Given the description of an element on the screen output the (x, y) to click on. 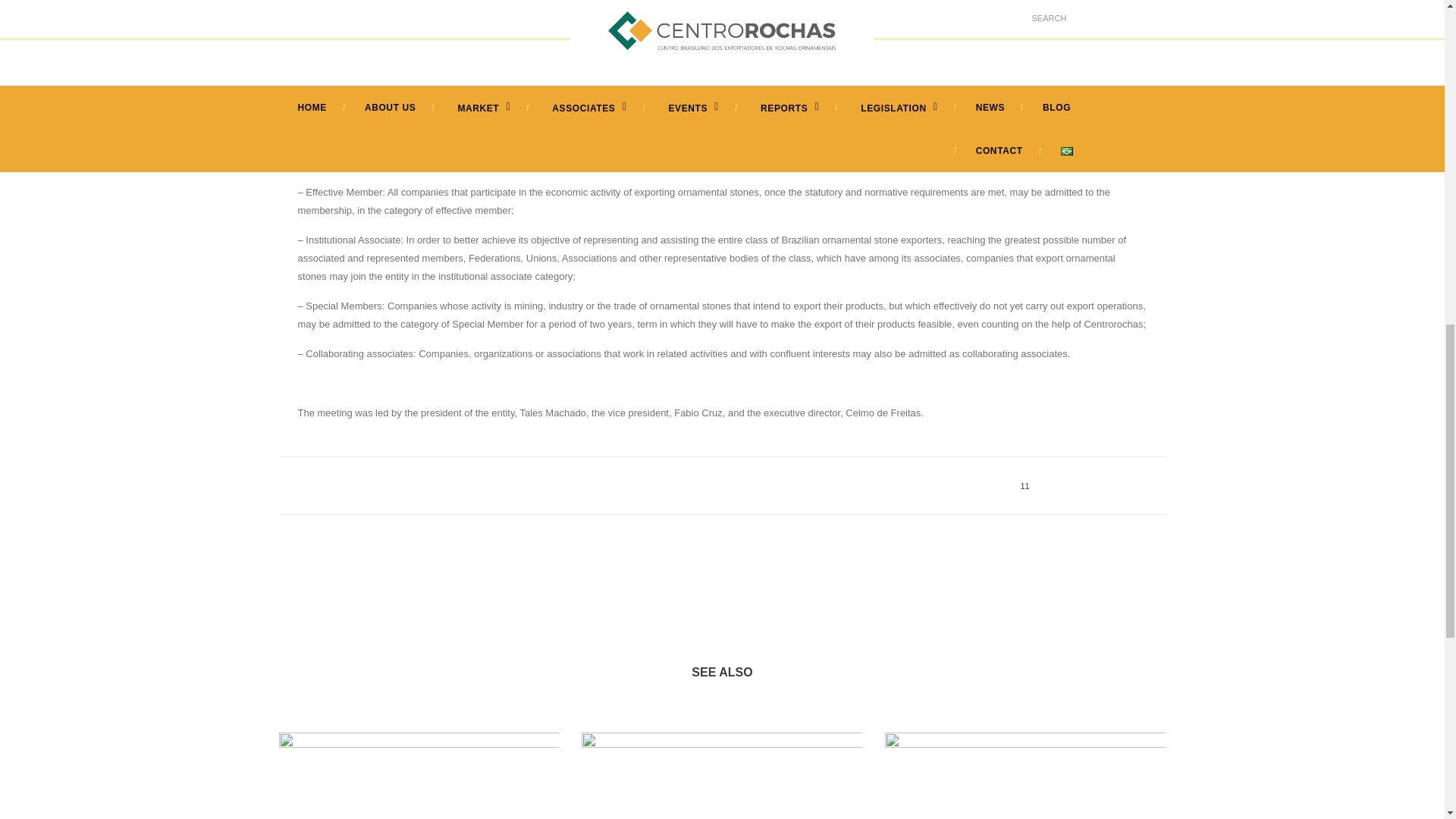
11 (1017, 484)
Like (1017, 484)
